Given the description of an element on the screen output the (x, y) to click on. 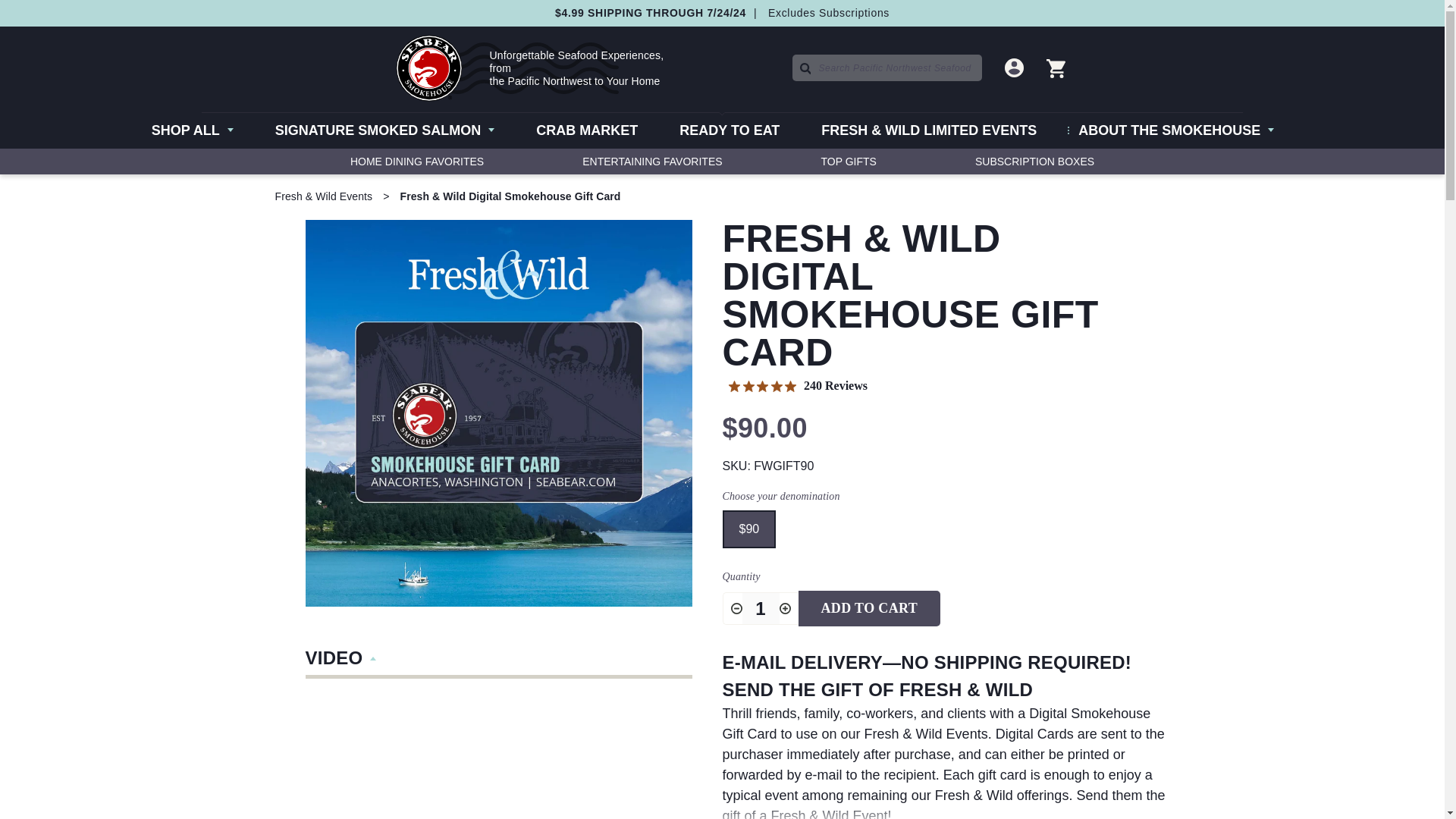
240 Reviews (798, 386)
1 (759, 608)
